Given the description of an element on the screen output the (x, y) to click on. 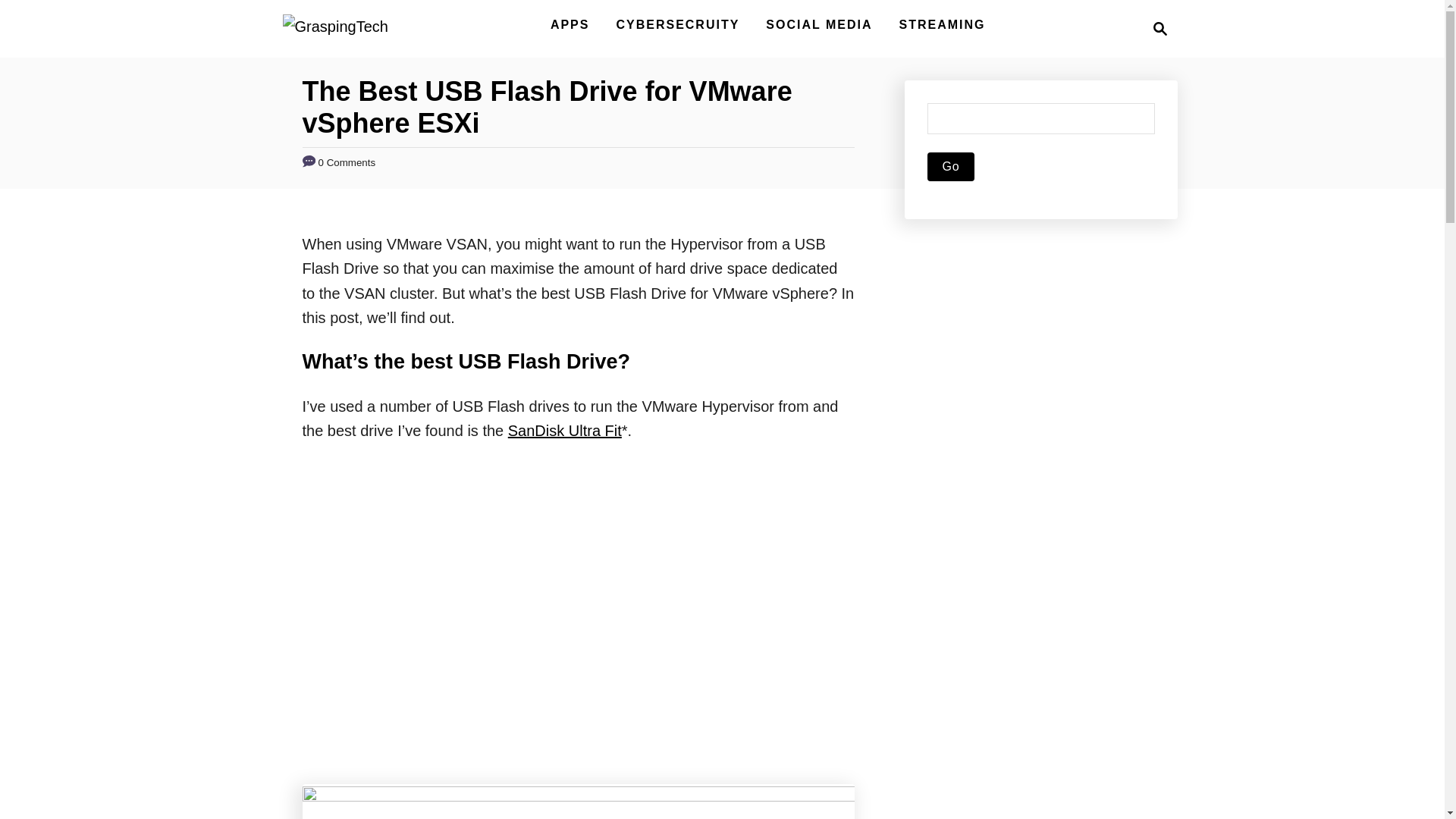
Magnifying Glass (1160, 28)
STREAMING (941, 24)
APPS (569, 24)
Go (950, 166)
SOCIAL MEDIA (818, 24)
GraspingTech (334, 28)
SanDisk Ultra Fit (1155, 28)
Skip to Content (564, 430)
